Given the description of an element on the screen output the (x, y) to click on. 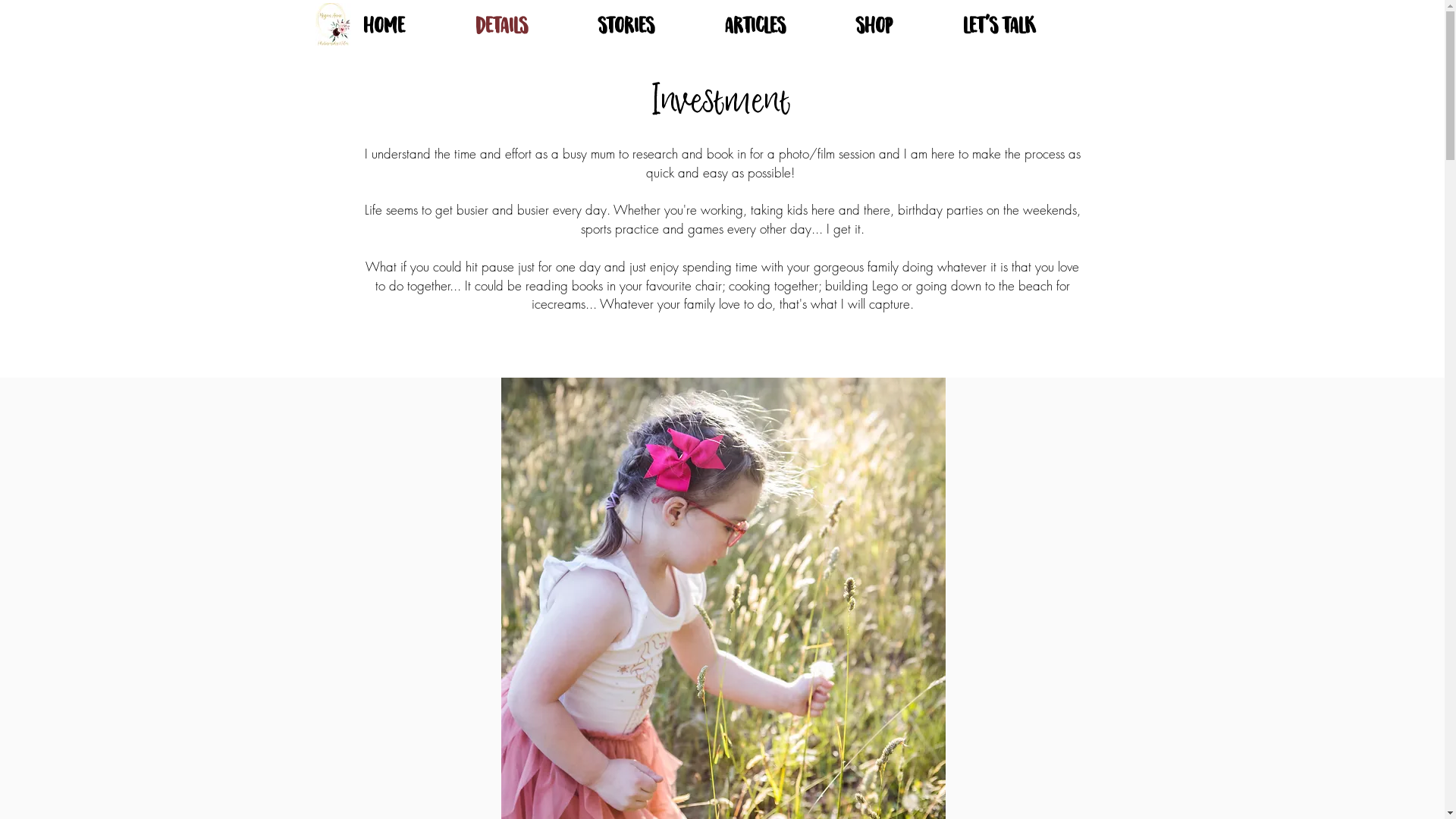
SHOP Element type: text (897, 16)
STORIES Element type: text (649, 16)
DETAILS Element type: text (525, 16)
LET'S TALK Element type: text (1021, 16)
HOME Element type: text (407, 16)
ARTICLES Element type: text (778, 16)
